Given the description of an element on the screen output the (x, y) to click on. 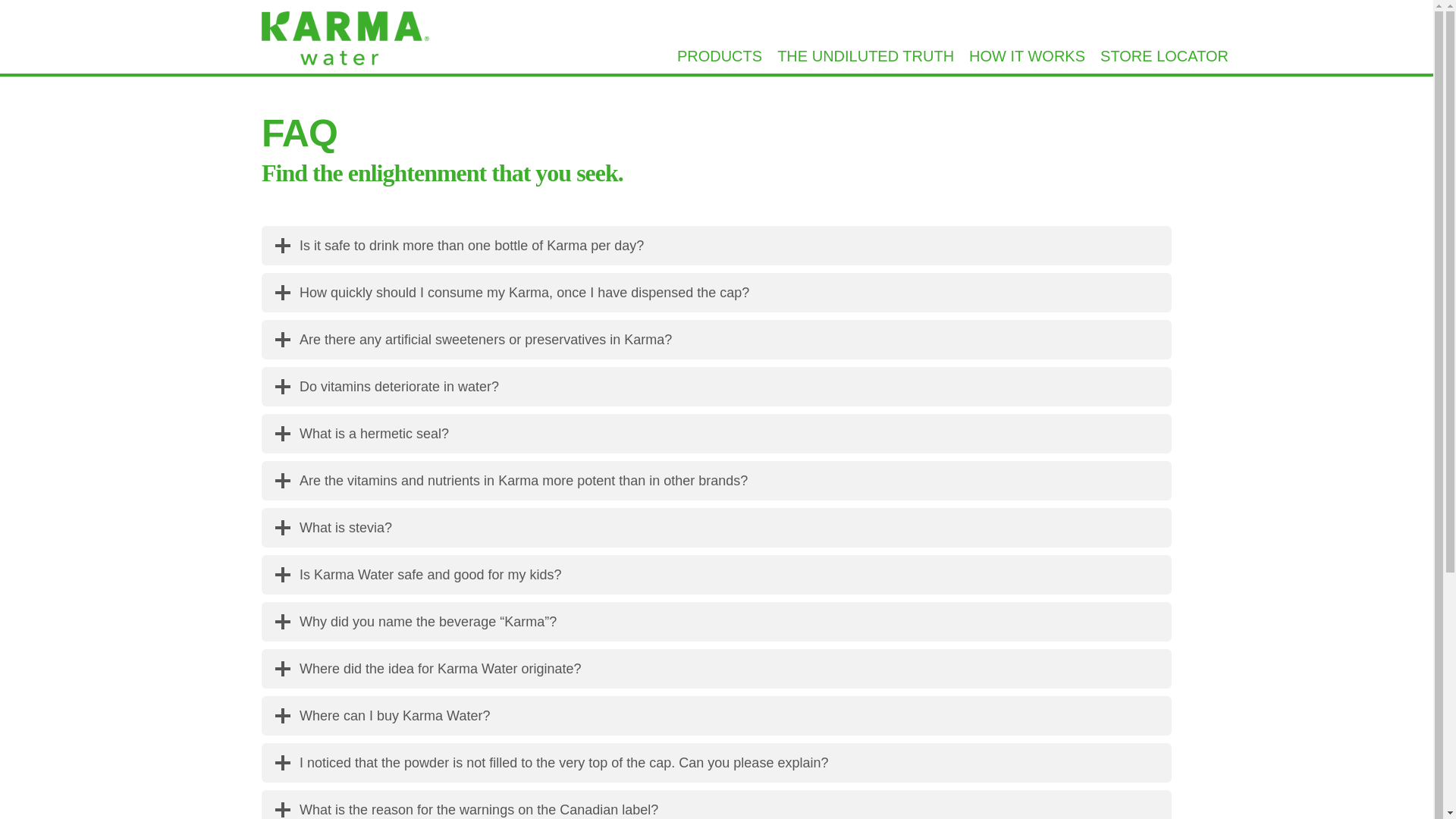
STORE LOCATOR (1164, 56)
PRODUCTS (719, 56)
Where did the idea for Karma Water originate? (717, 668)
Is it safe to drink more than one bottle of Karma per day? (717, 245)
THE UNDILUTED TRUTH (865, 56)
Karma Water Canada (345, 42)
Do vitamins deteriorate in water? (717, 386)
HOW IT WORKS (1026, 56)
Where can I buy Karma Water? (717, 715)
What is the reason for the warnings on the Canadian label? (717, 804)
What is a hermetic seal? (717, 433)
